Given the description of an element on the screen output the (x, y) to click on. 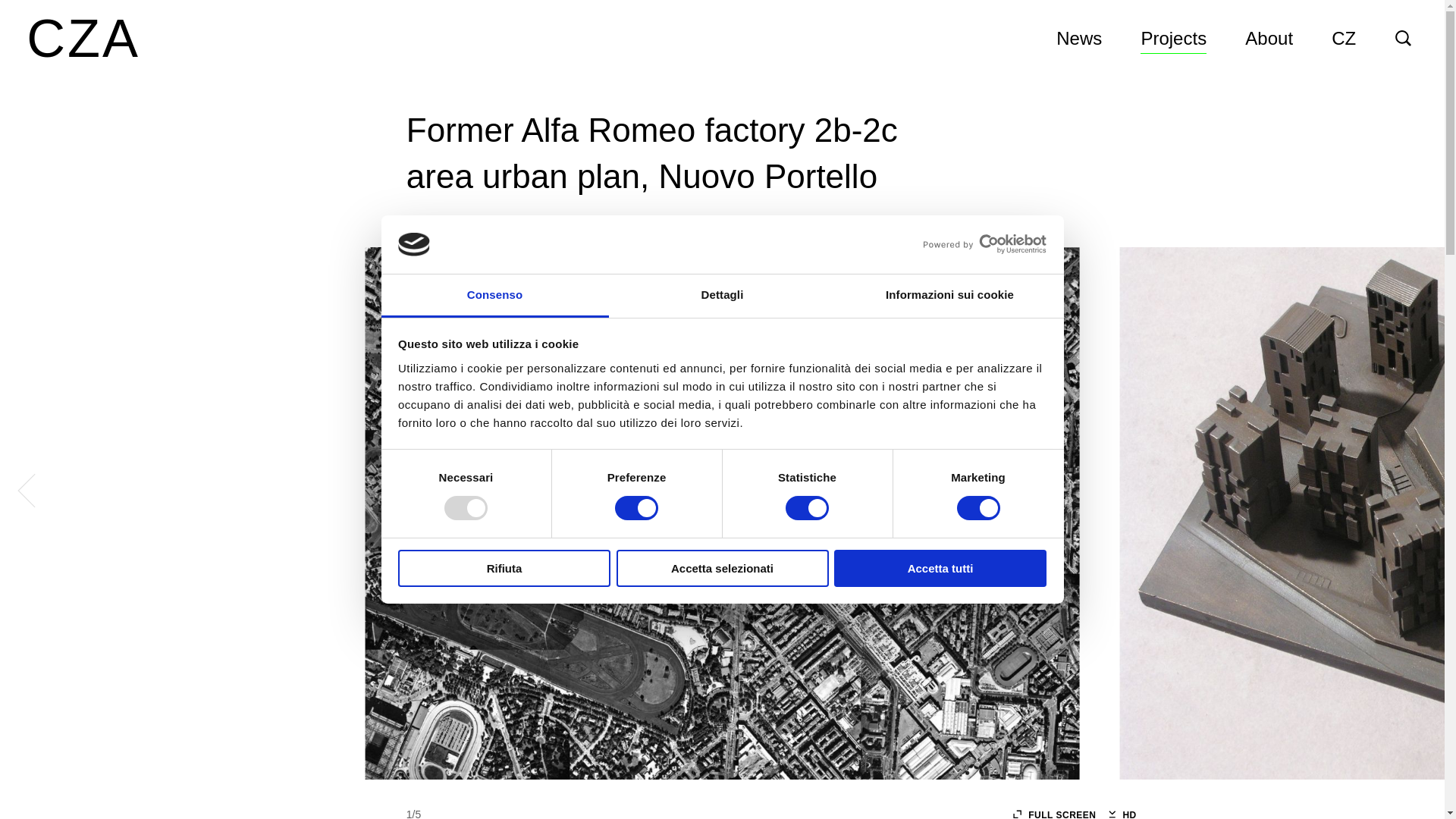
Accetta tutti (940, 568)
News (1079, 39)
Informazioni sui cookie (948, 295)
CZA (82, 37)
Rifiuta (503, 568)
Accetta selezionati (721, 568)
Dettagli (721, 295)
Projects (1173, 39)
Consenso (494, 295)
